Given the description of an element on the screen output the (x, y) to click on. 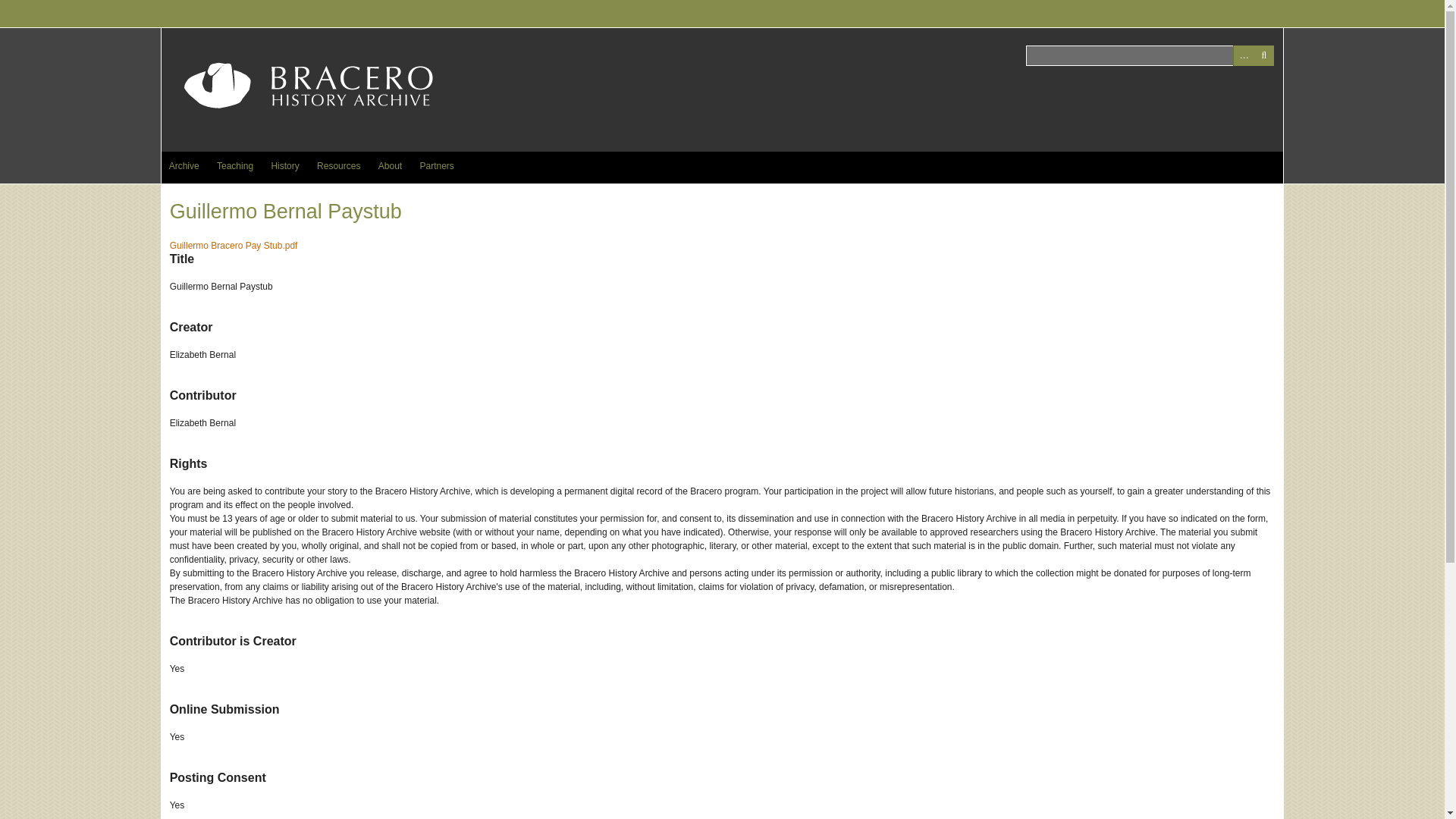
Search (1263, 55)
Teaching (234, 165)
About (390, 165)
Resources (338, 165)
Guillermo Bracero Pay Stub.pdf (234, 245)
Archive (183, 165)
Partners (436, 165)
Advanced Search (1243, 55)
Search (1150, 55)
History (284, 165)
